Given the description of an element on the screen output the (x, y) to click on. 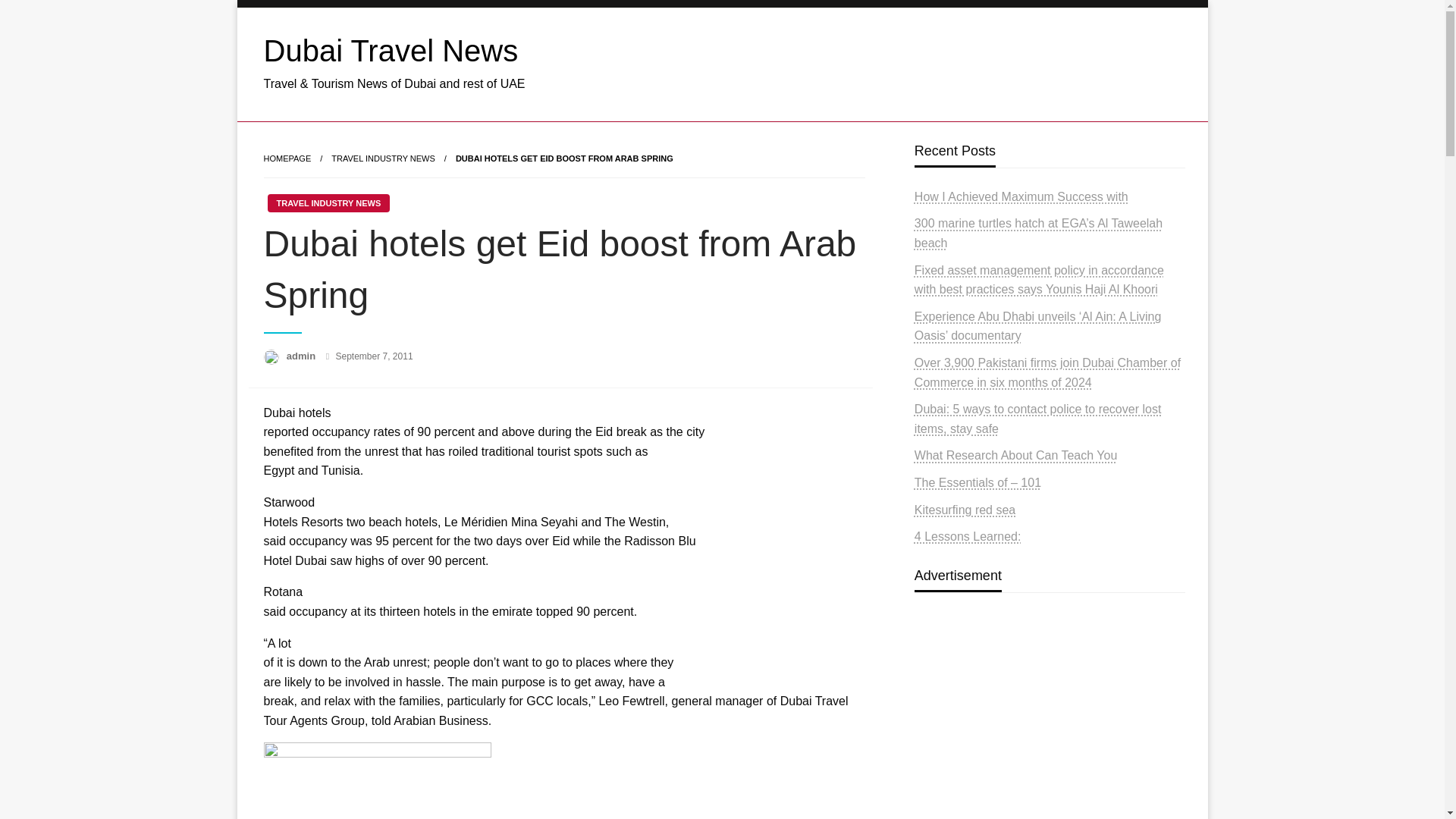
HOMEPAGE (287, 157)
TRAVEL INDUSTRY NEWS (328, 203)
Dubai Travel News (390, 50)
TRAVEL INDUSTRY NEWS (383, 157)
Dubai hotels get Eid boost from Arab Spring (563, 157)
Homepage (287, 157)
admin (302, 355)
admin (302, 355)
September 7, 2011 (373, 356)
Travel Industry News (383, 157)
